Given the description of an element on the screen output the (x, y) to click on. 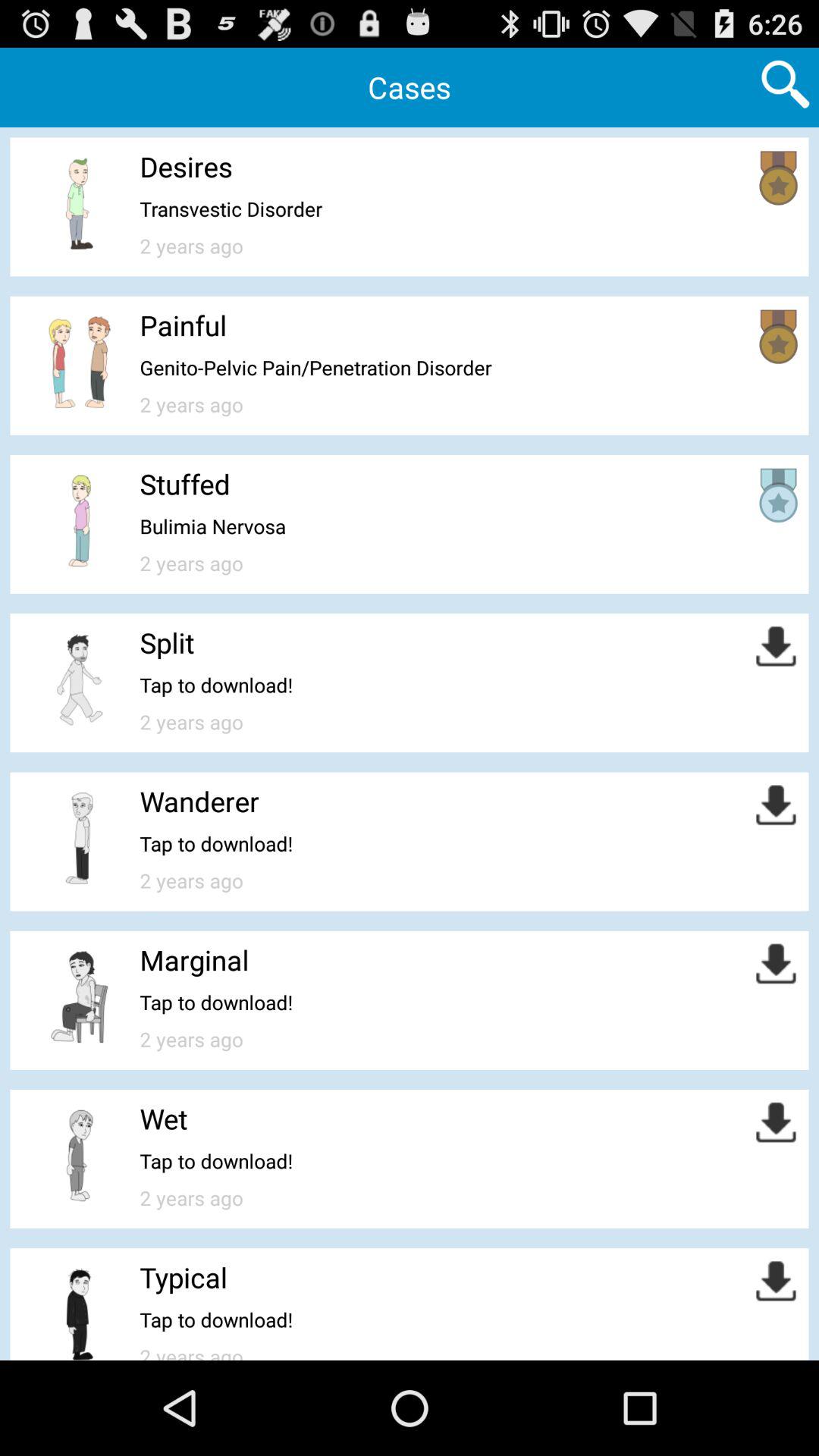
turn off item above bulimia nervosa (184, 483)
